Given the description of an element on the screen output the (x, y) to click on. 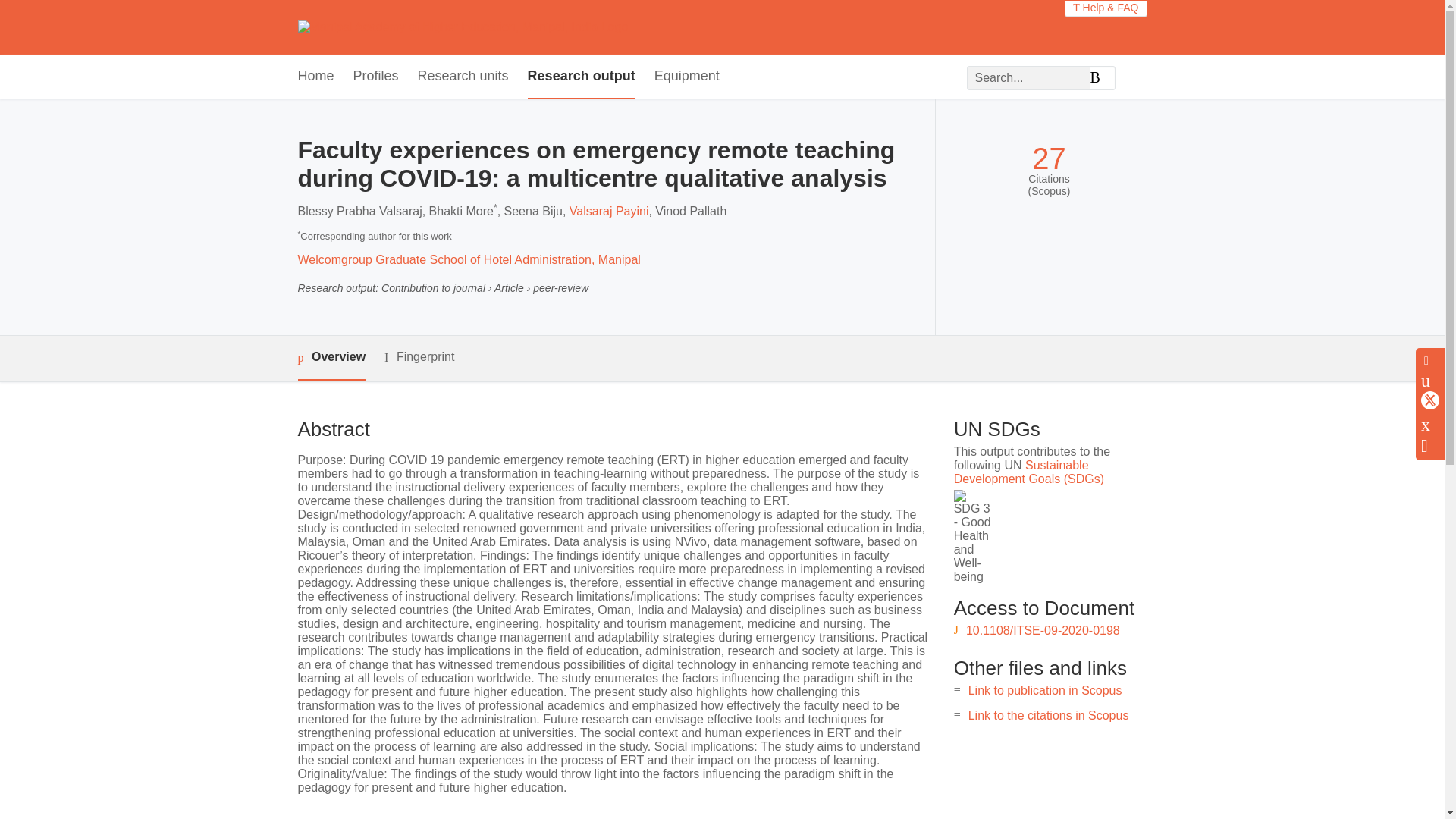
Fingerprint (419, 357)
Research units (462, 76)
Overview (331, 357)
Link to the citations in Scopus (1048, 715)
27 (1048, 158)
Research output (580, 76)
Equipment (686, 76)
Manipal Academy of Higher Education, Manipal, India Home (462, 27)
Profiles (375, 76)
